Given the description of an element on the screen output the (x, y) to click on. 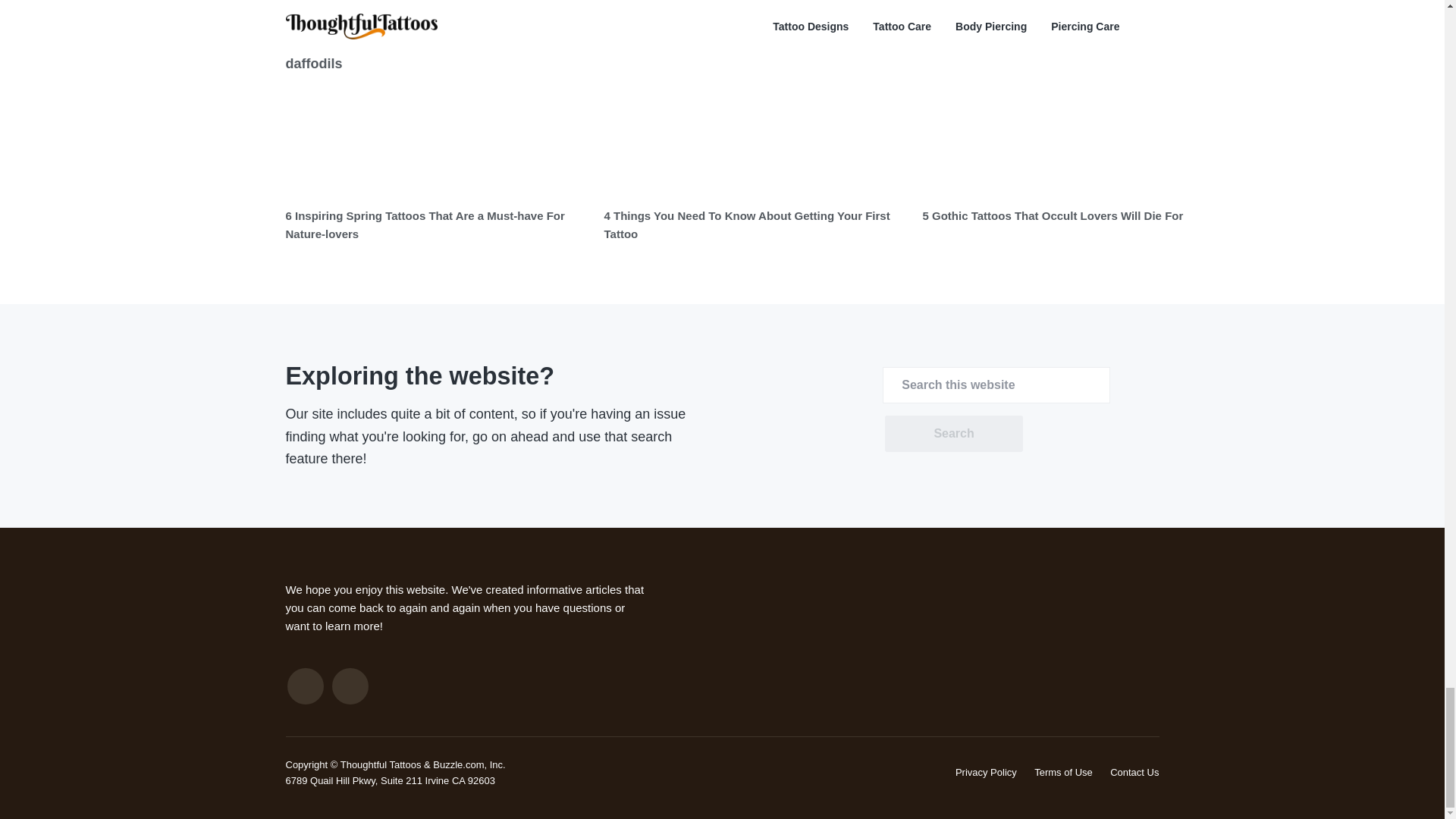
Search (953, 433)
Search (953, 433)
